Given the description of an element on the screen output the (x, y) to click on. 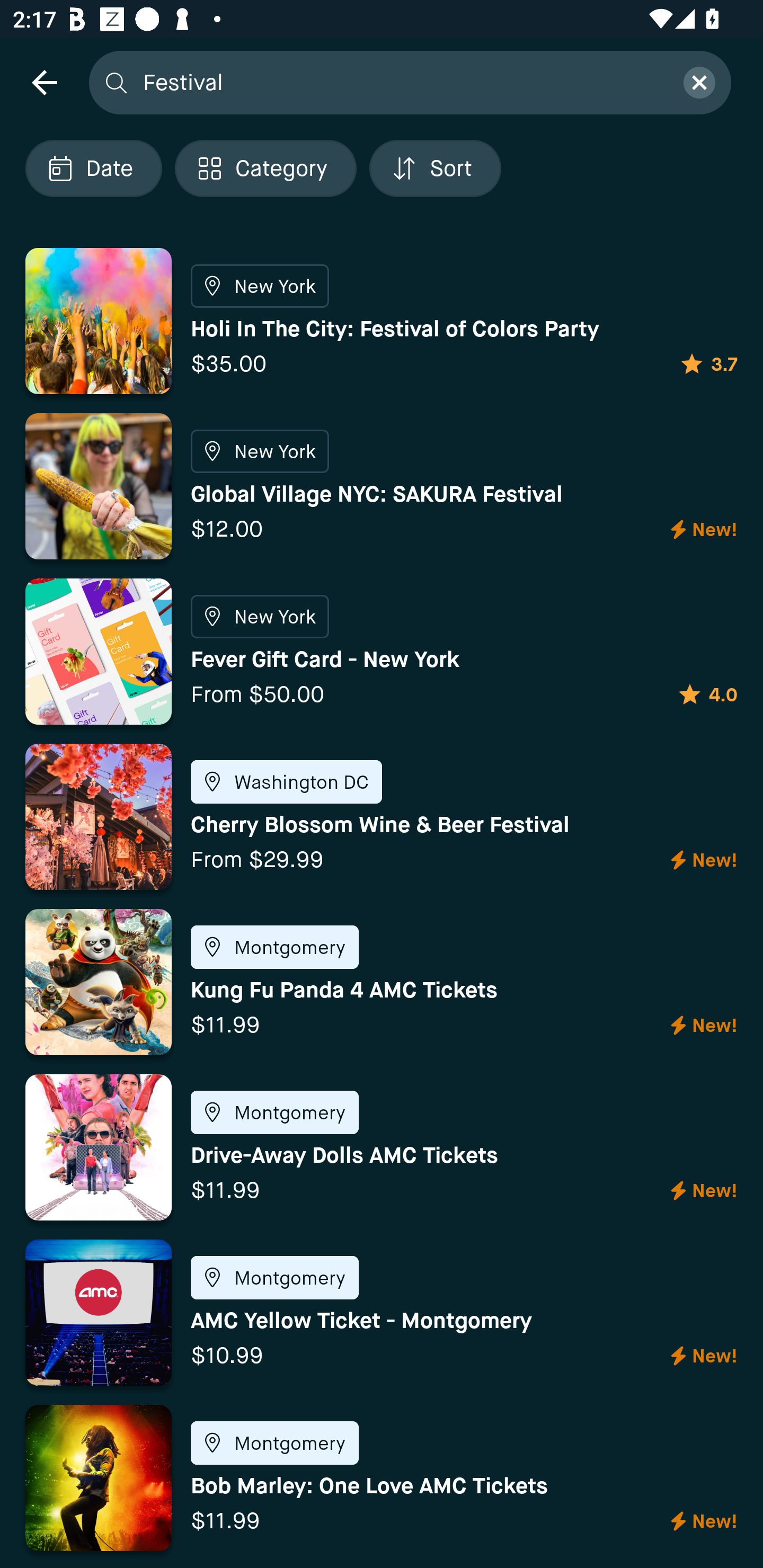
navigation icon (44, 81)
Festival (402, 81)
Localized description Date (93, 168)
Localized description Category (265, 168)
Localized description Sort (435, 168)
